Given the description of an element on the screen output the (x, y) to click on. 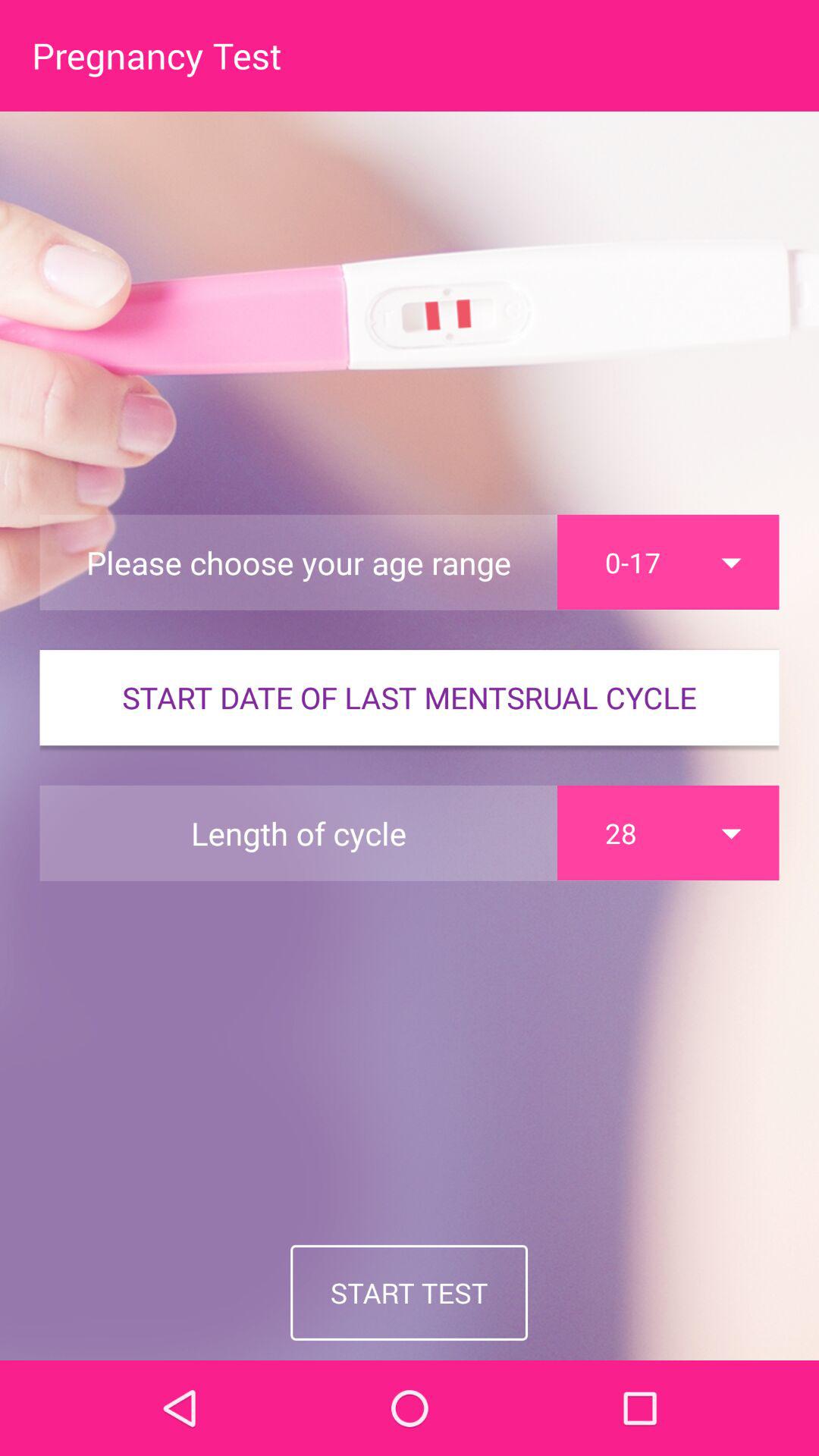
scroll until the start test icon (408, 1292)
